Given the description of an element on the screen output the (x, y) to click on. 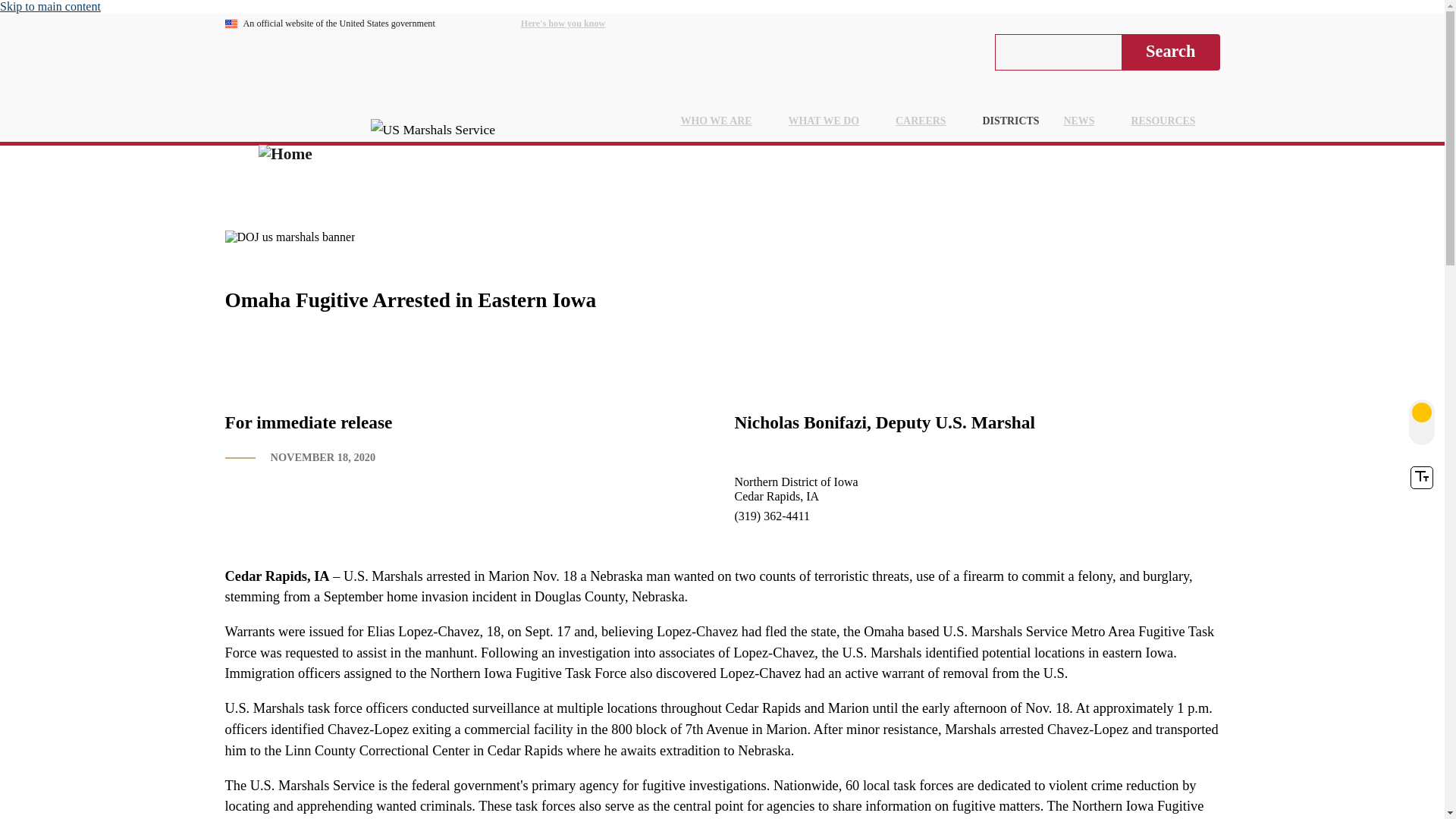
CAREERS (926, 121)
RESOURCES (1169, 121)
DISTRICTS (1011, 121)
Search (1170, 52)
WHAT WE DO (829, 121)
Here's how you know (576, 23)
NEWS (1085, 121)
Skip to main content (50, 6)
WHO WE ARE (722, 121)
Home (285, 154)
